Given the description of an element on the screen output the (x, y) to click on. 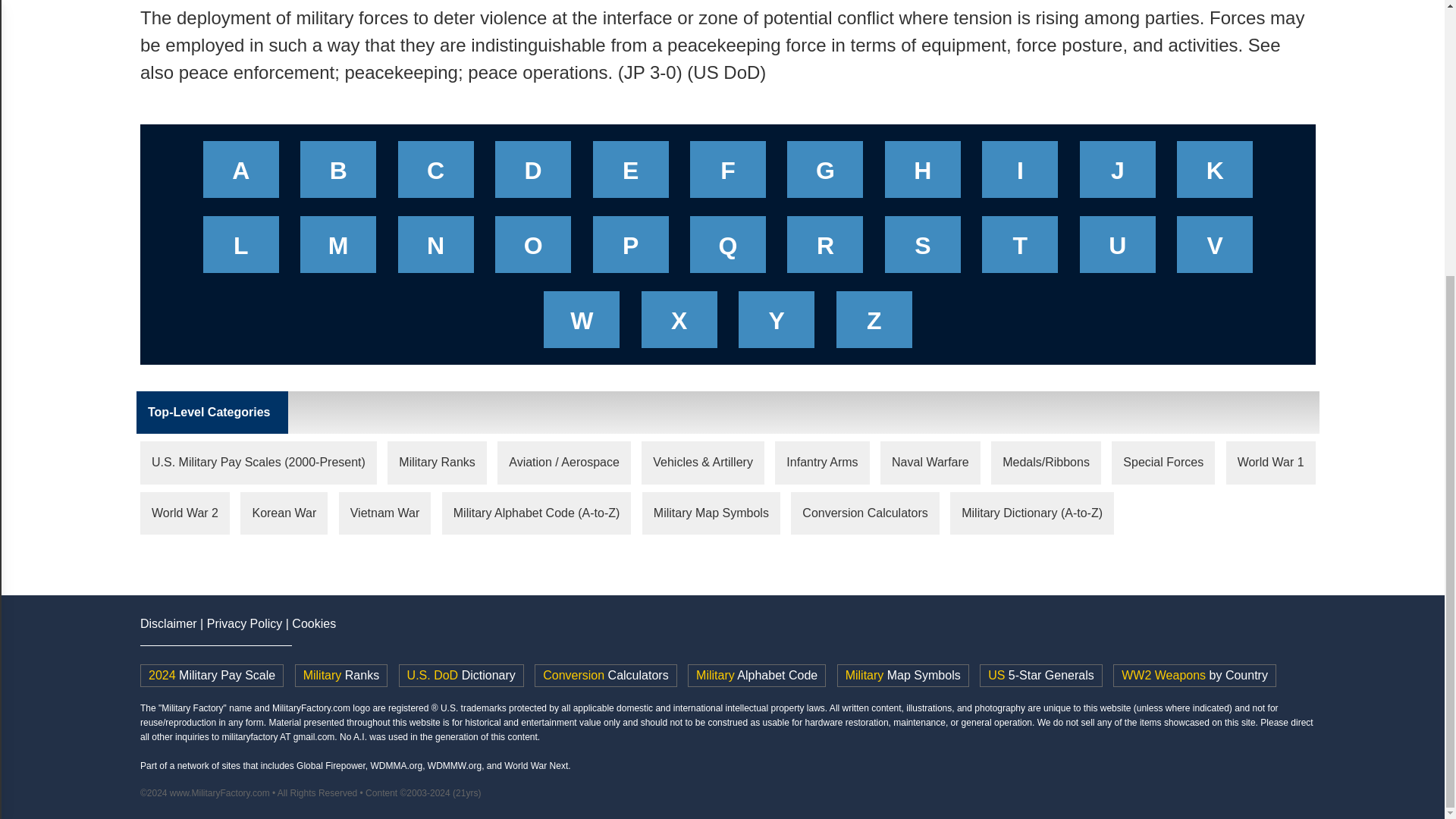
F (727, 174)
G (824, 174)
L (240, 249)
D (532, 174)
E (630, 174)
K (1214, 174)
Q (727, 249)
S (922, 249)
N (435, 249)
A (240, 174)
P (630, 249)
J (1117, 174)
B (338, 174)
C (435, 174)
R (824, 249)
